Given the description of an element on the screen output the (x, y) to click on. 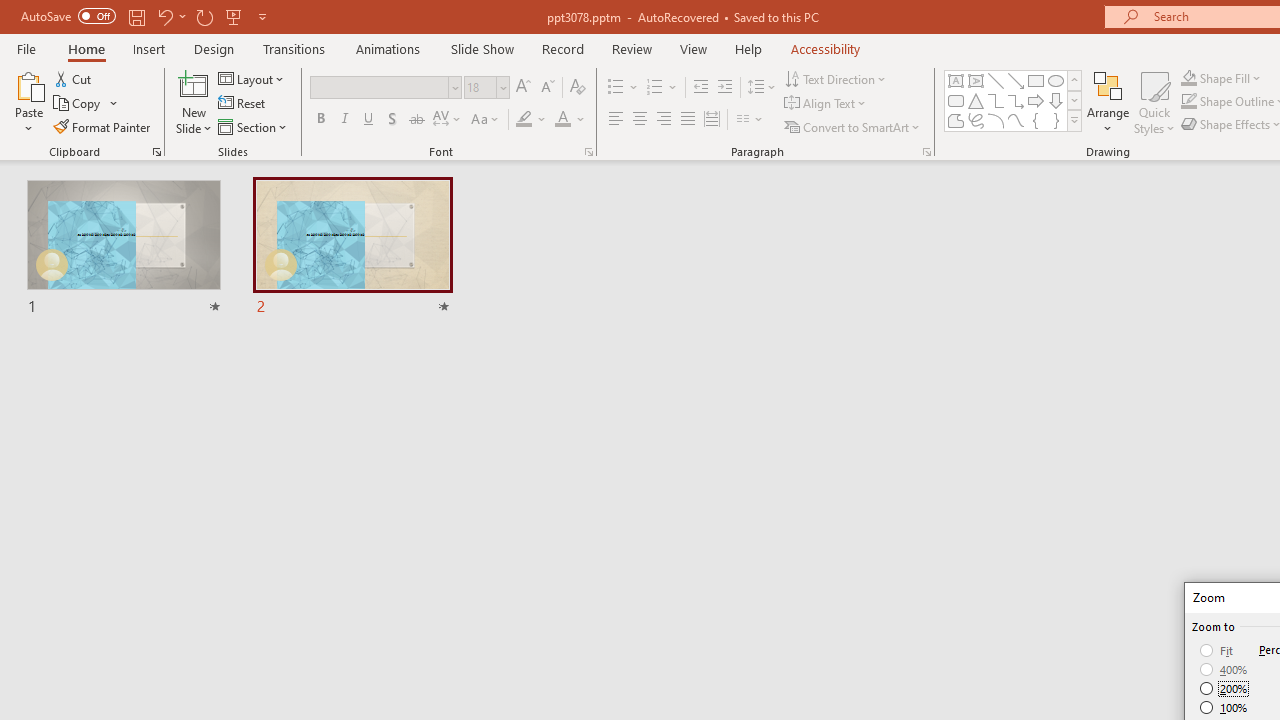
Shape Outline Green, Accent 1 (1188, 101)
